Given the description of an element on the screen output the (x, y) to click on. 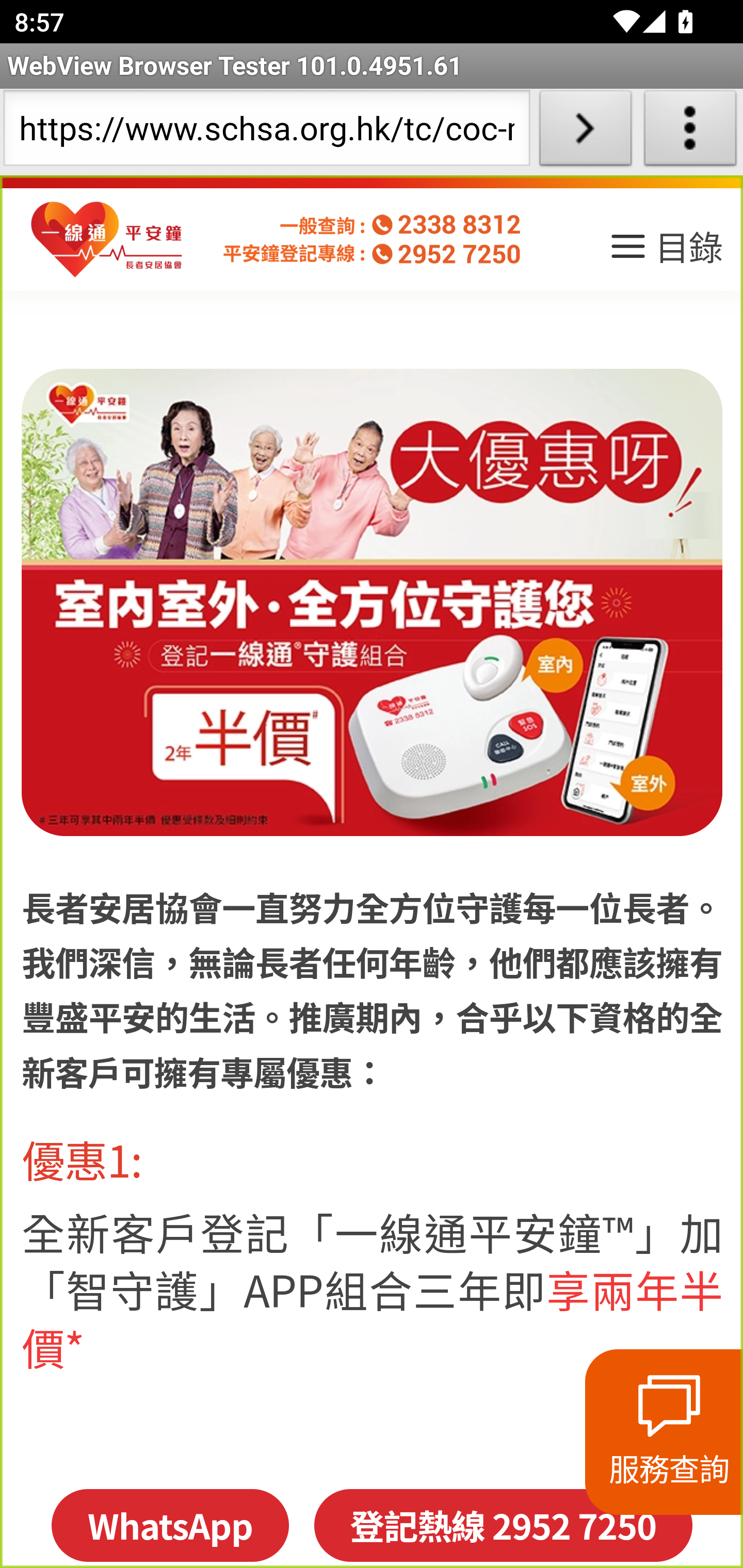
Load URL (585, 132)
About WebView (690, 132)
homepage (107, 240)
目錄 (665, 252)
服務查詢 (664, 1432)
WhatsApp (169, 1525)
登記熱線 2952 7250 (502, 1525)
